Given the description of an element on the screen output the (x, y) to click on. 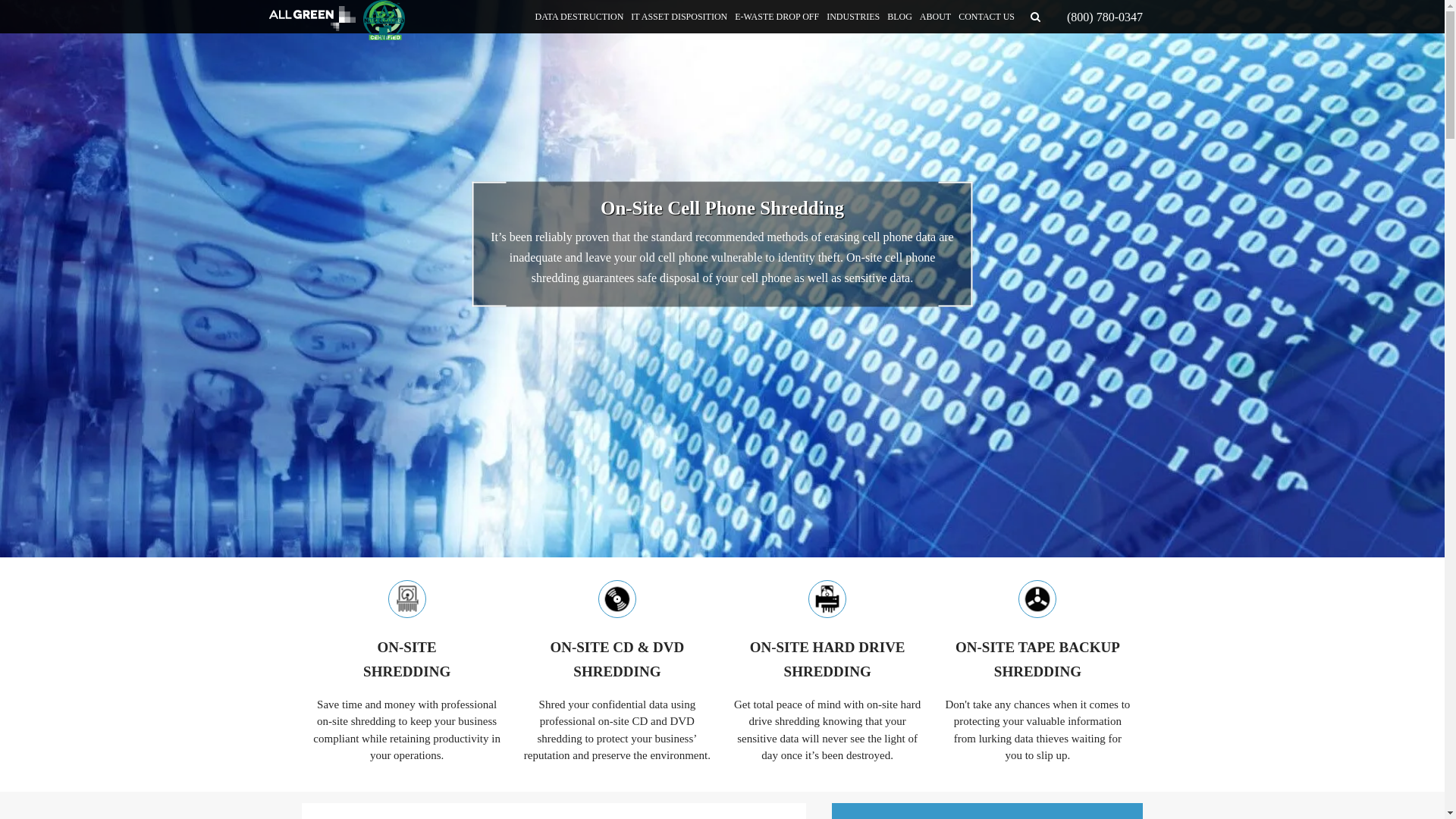
DATA DESTRUCTION (579, 16)
ABOUT (935, 16)
INDUSTRIES (852, 16)
IT ASSET DISPOSITION (678, 16)
E-WASTE DROP OFF (776, 16)
BLOG (827, 659)
CONTACT US (899, 16)
